Given the description of an element on the screen output the (x, y) to click on. 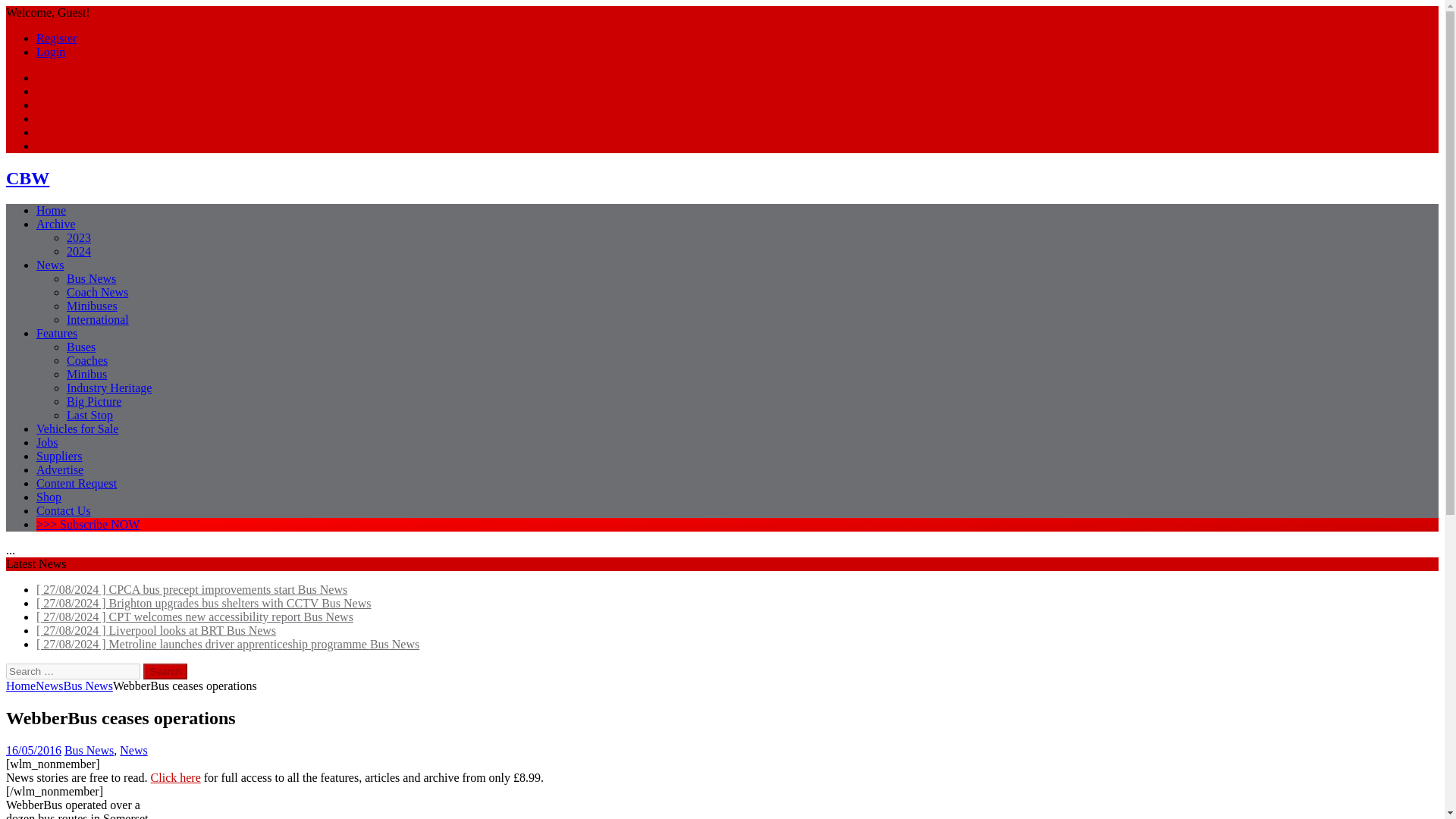
Contact Us (63, 510)
Minibus (86, 373)
Archive (55, 223)
Big Picture (93, 400)
News (50, 264)
Advertise (59, 469)
Liverpool looks at BRT (156, 630)
Bus News (91, 278)
Brighton upgrades bus shelters with CCTV (203, 603)
CPT welcomes new accessibility report (194, 616)
